Given the description of an element on the screen output the (x, y) to click on. 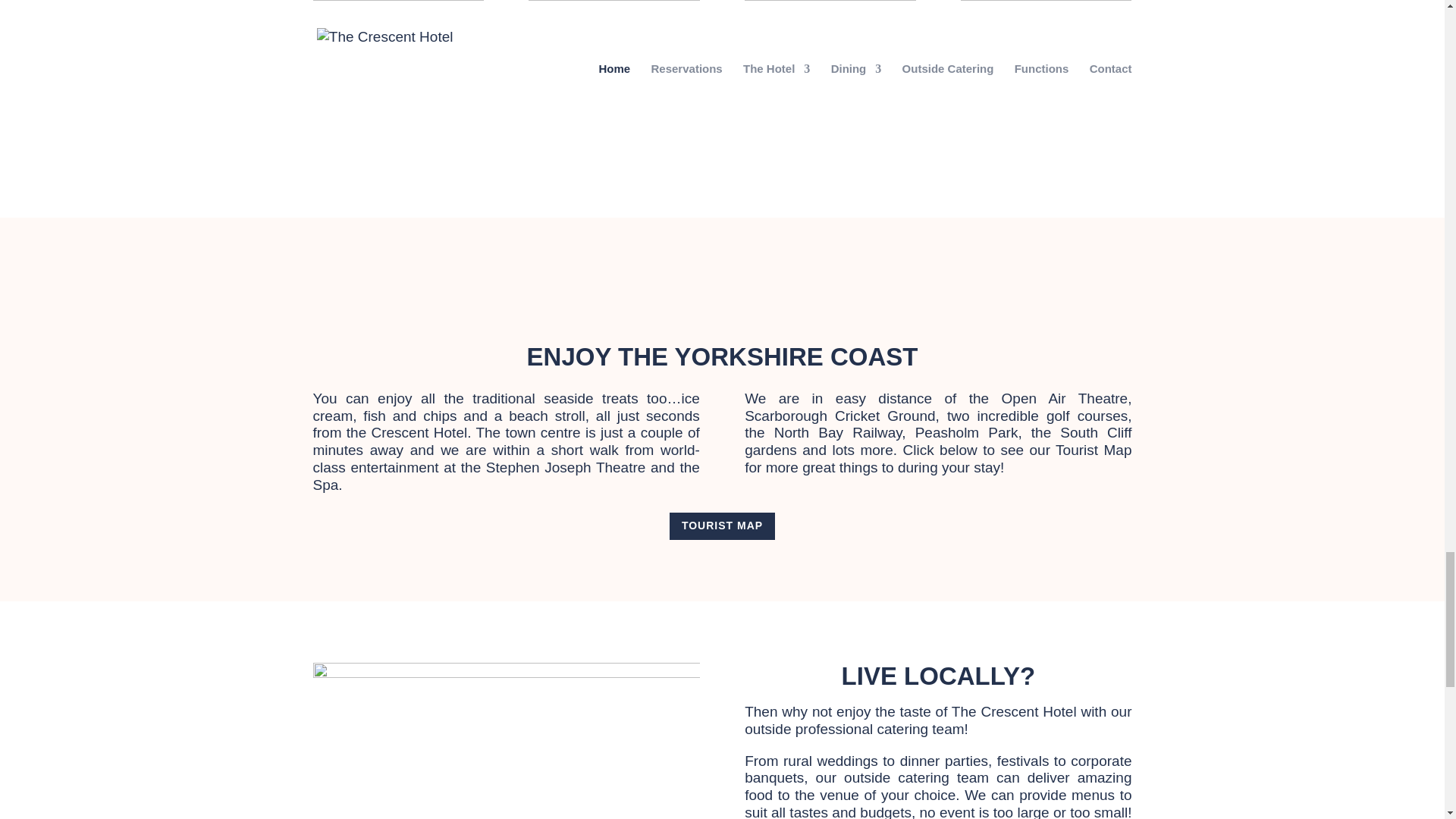
homepage image-01 (505, 740)
homepage gallery-04 (1045, 78)
homepage gallery-03 (829, 78)
homepage gallery-02 (613, 78)
TOURIST MAP (721, 525)
homepage gallery-01 (398, 78)
